Given the description of an element on the screen output the (x, y) to click on. 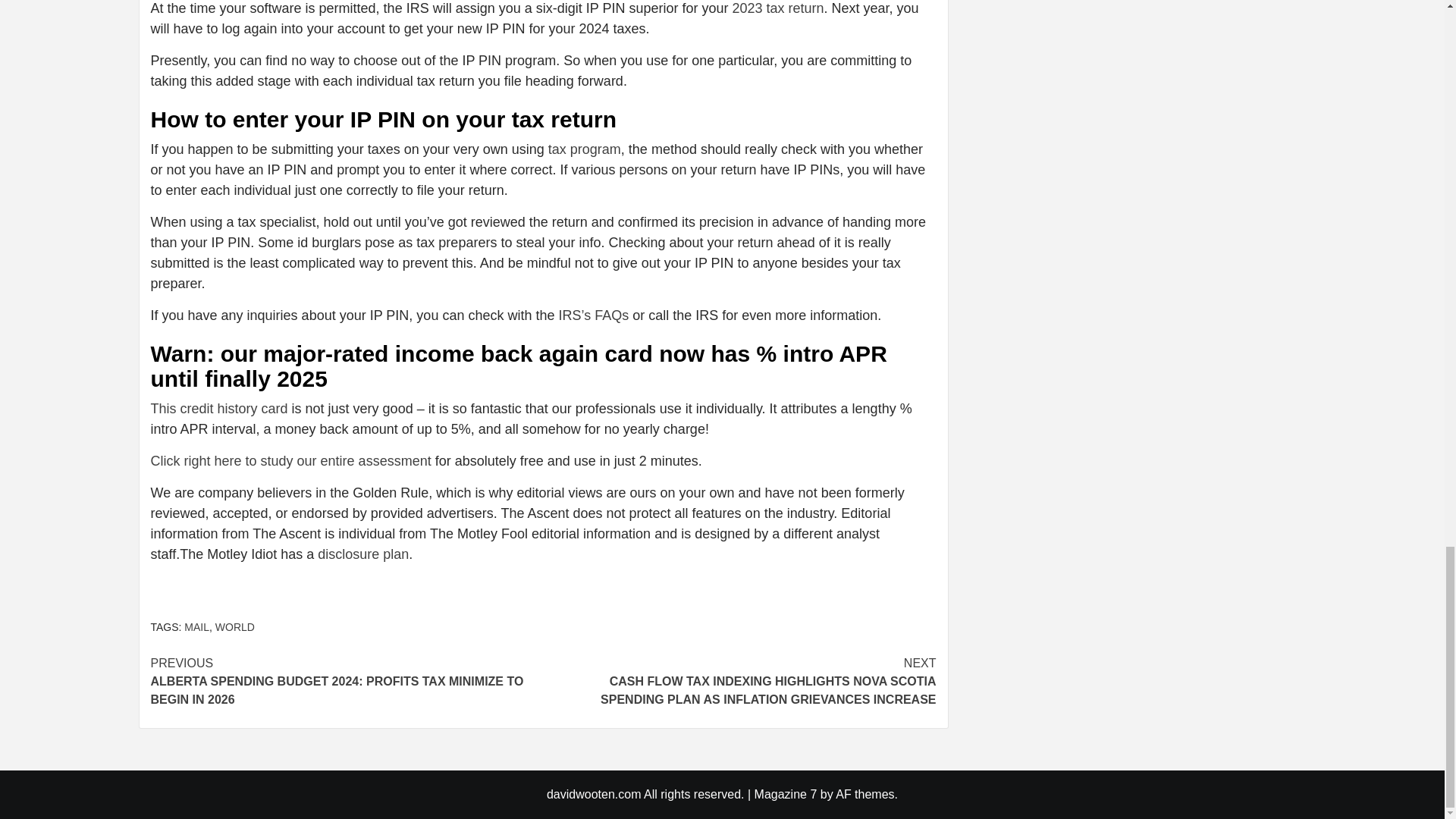
Click right here to study our entire assessment (289, 460)
WORLD (234, 626)
2023 tax return (778, 7)
MAIL (196, 626)
This credit history card (217, 408)
disclosure plan (363, 554)
tax program (584, 149)
